Given the description of an element on the screen output the (x, y) to click on. 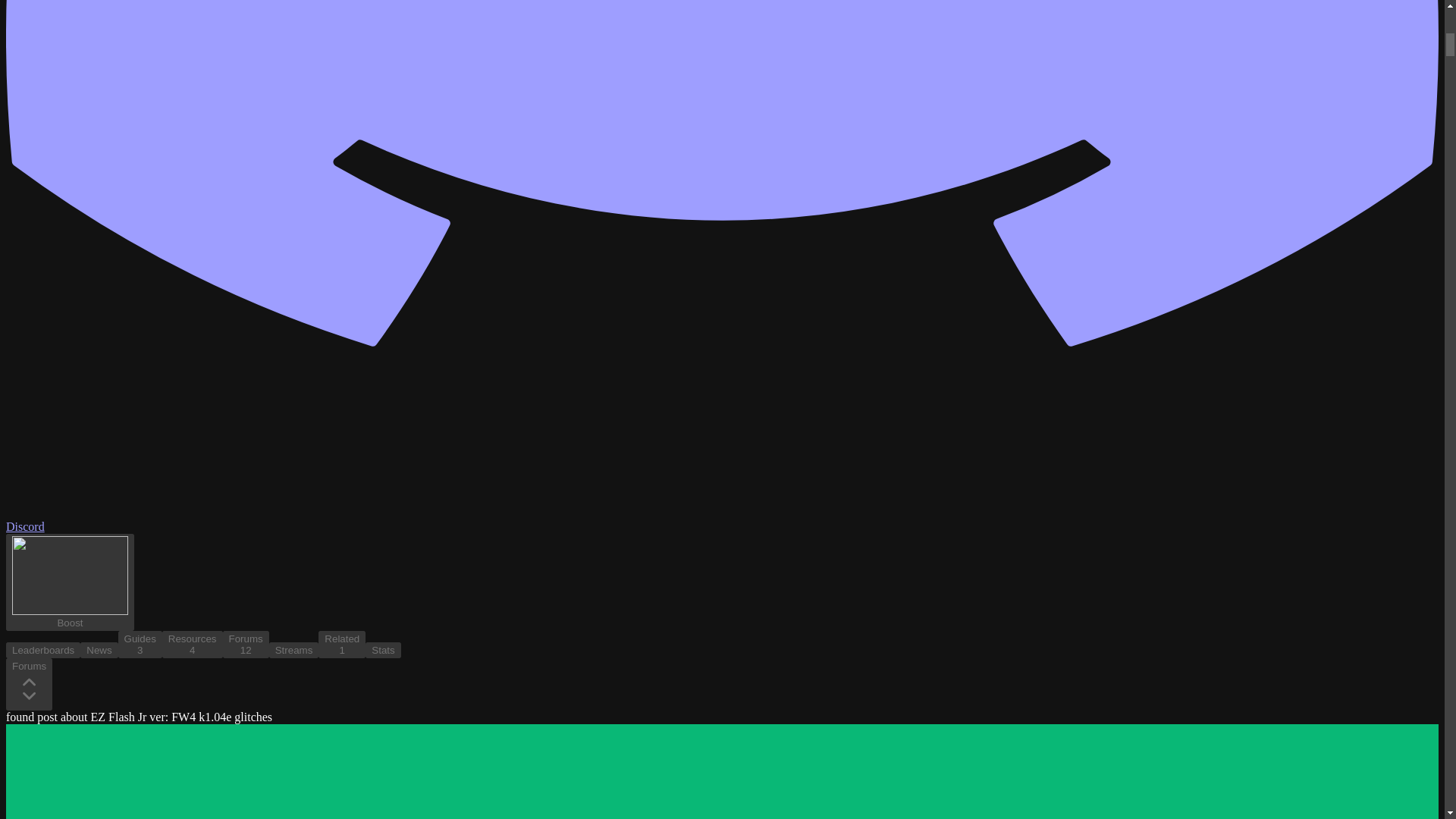
Streams (191, 649)
Streams (139, 649)
News (139, 644)
Leaderboards (293, 649)
Leaderboards (245, 649)
Stats (191, 644)
Stats (293, 650)
